Given the description of an element on the screen output the (x, y) to click on. 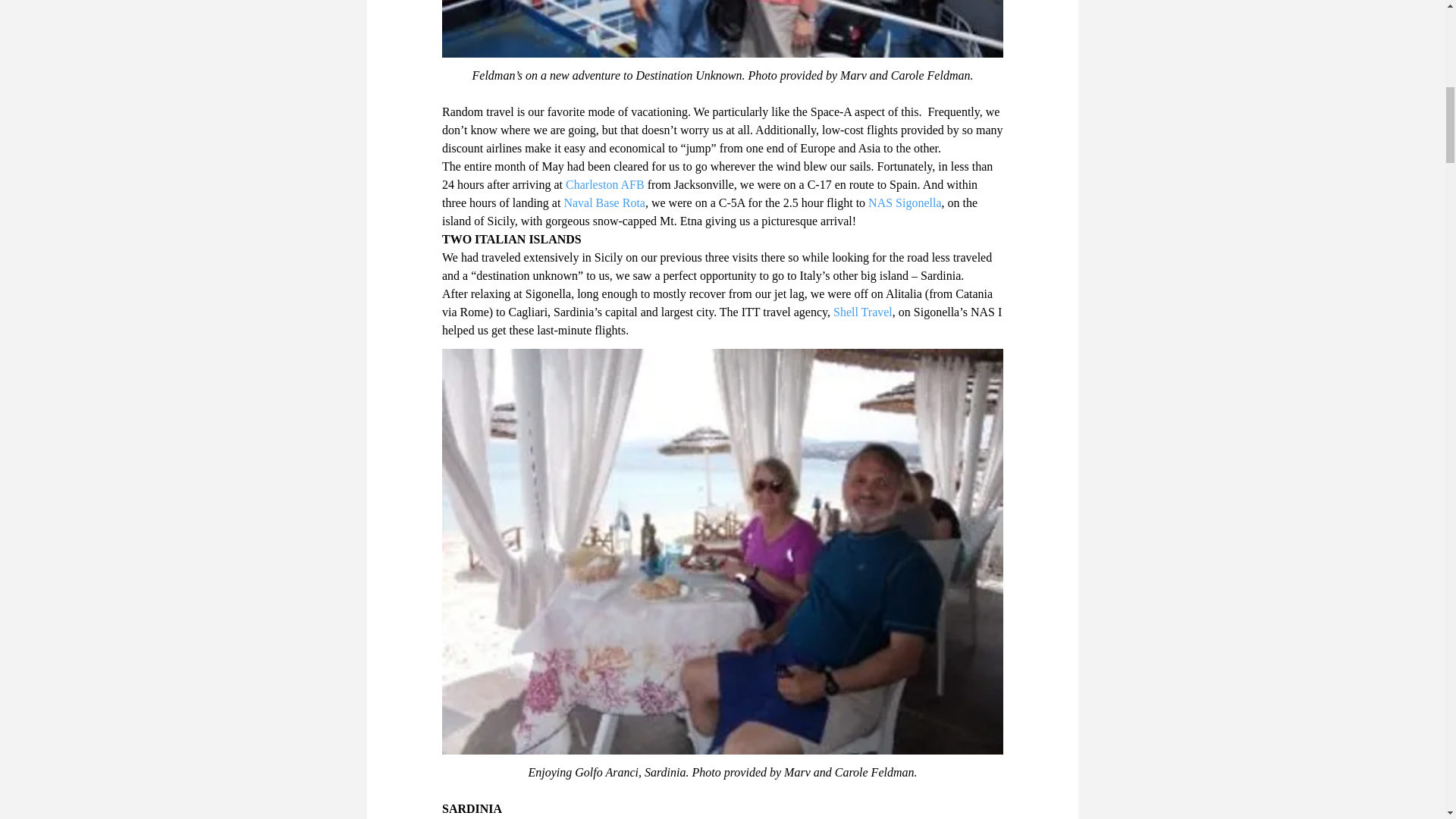
Charleston AFB (605, 184)
Shell Travel (861, 311)
NAS Sigonella (903, 202)
Naval Base Rota (604, 202)
